Given the description of an element on the screen output the (x, y) to click on. 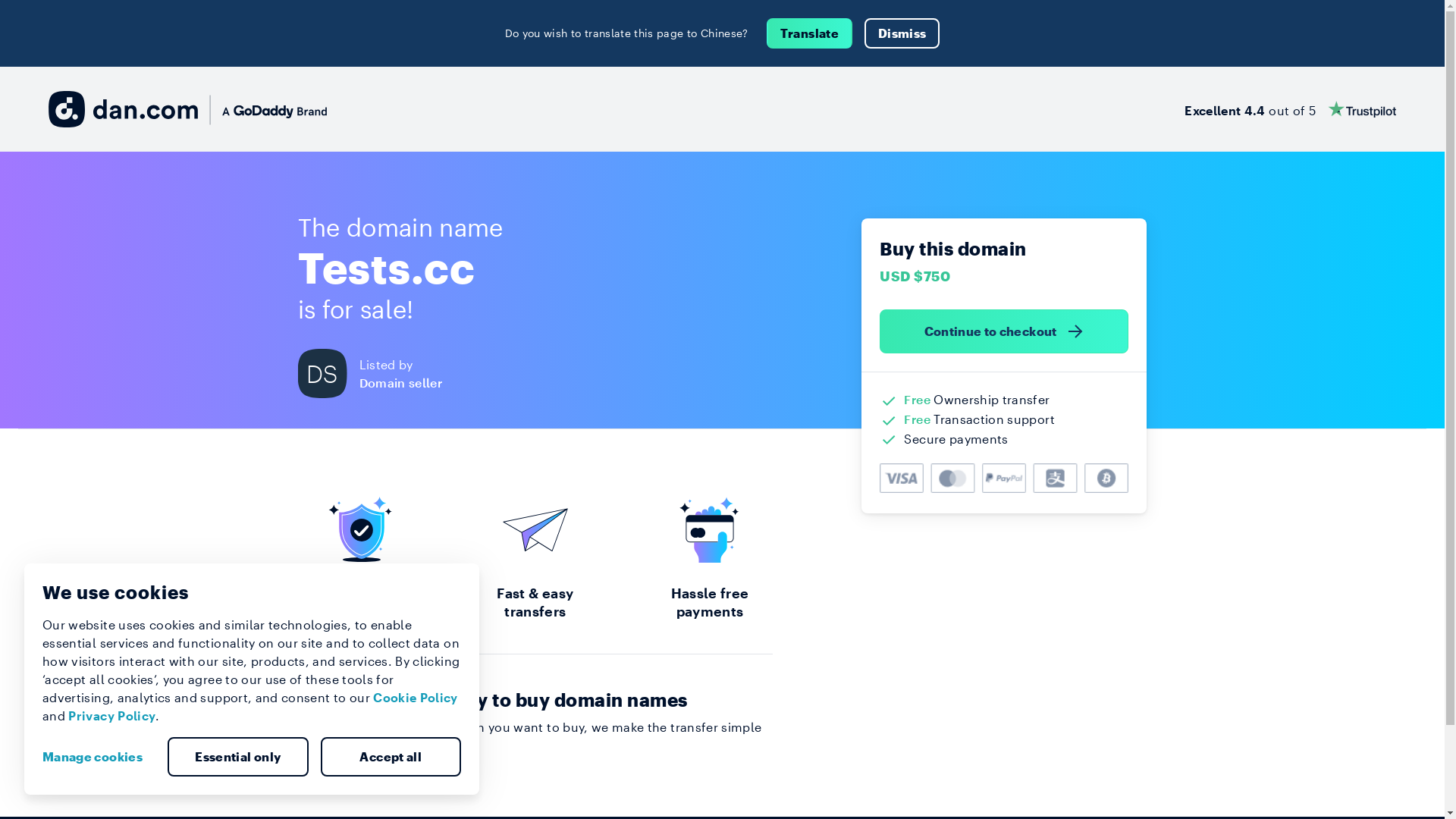
Essential only Element type: text (237, 756)
Privacy Policy Element type: text (111, 715)
Manage cookies Element type: text (98, 756)
Dismiss Element type: text (901, 33)
Cookie Policy Element type: text (415, 697)
Excellent 4.4 out of 5 Element type: text (1290, 109)
Accept all Element type: text (390, 756)
Continue to checkout
) Element type: text (1003, 331)
Translate Element type: text (809, 33)
